Given the description of an element on the screen output the (x, y) to click on. 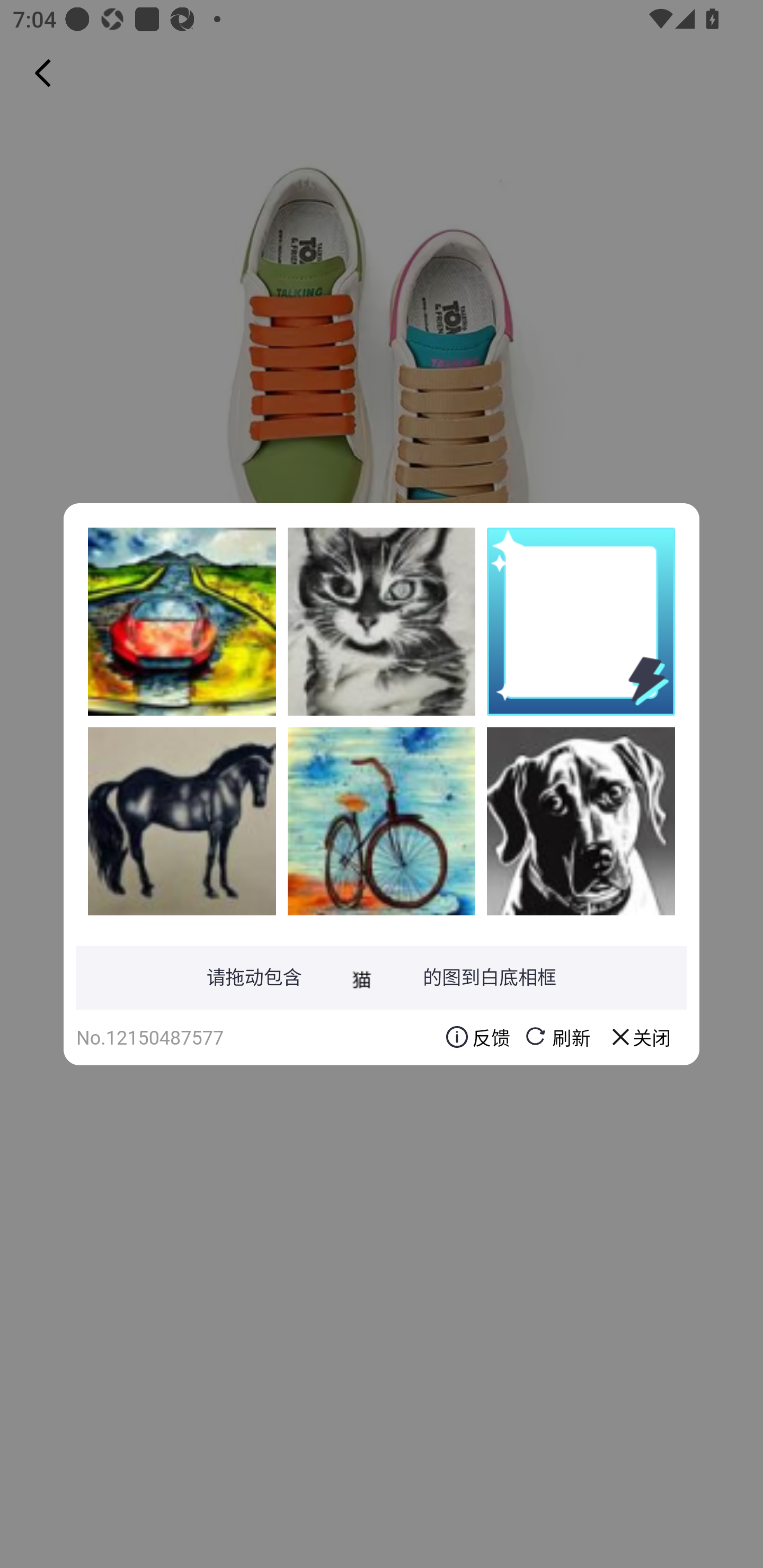
nxu358fNuL21dVqSnvSIOkh3 (181, 621)
T9MBkGiGYnVSUpJsKZQKidLvzZtXNtBrJplNmDk5Wba4DjiAAt (381, 621)
